Given the description of an element on the screen output the (x, y) to click on. 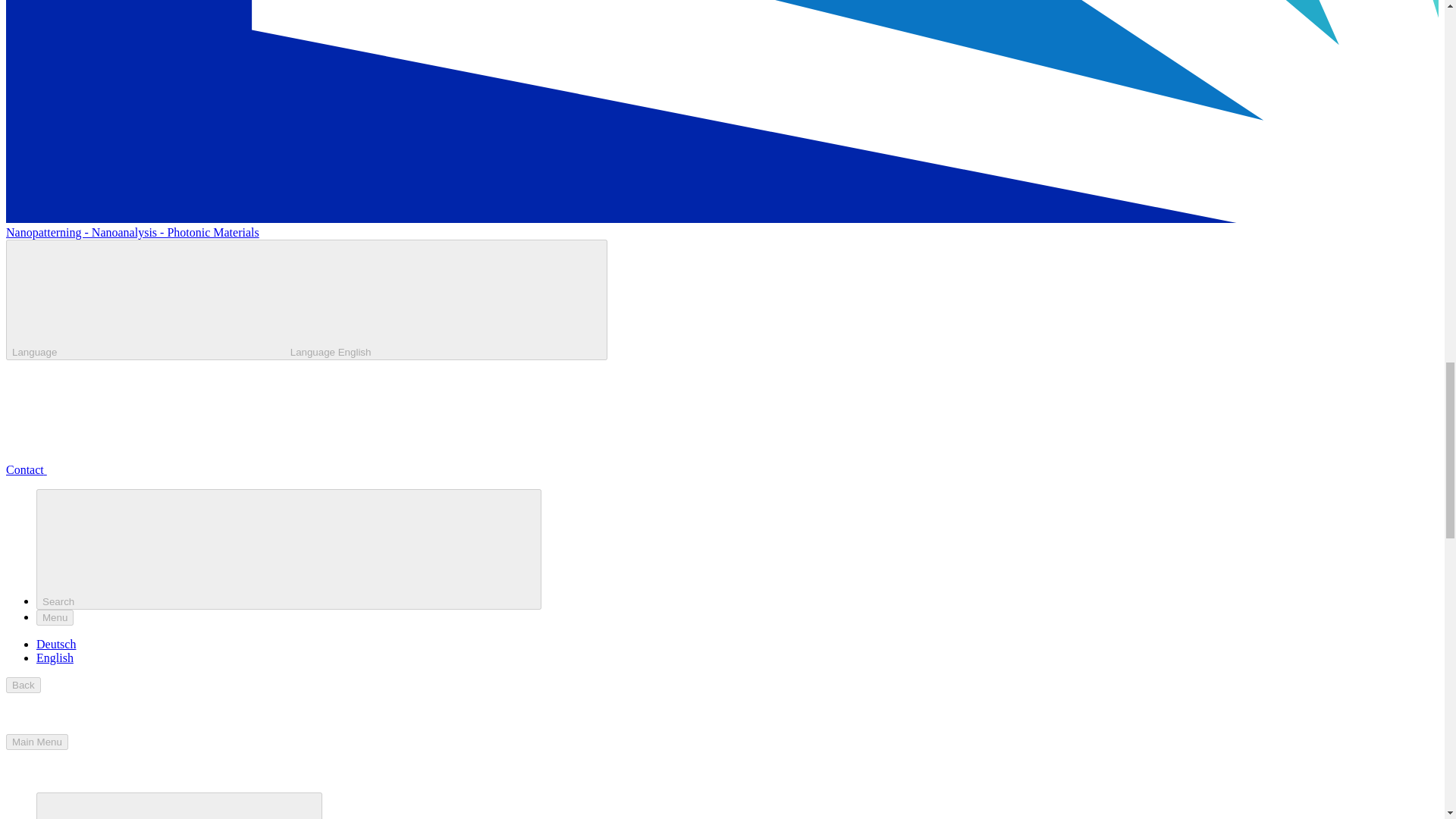
English (55, 657)
Research (178, 805)
Main Menu (36, 741)
Deutsch (55, 644)
Nanopatterning - Nanoanalysis - Photonic Materials (132, 232)
Back (22, 684)
toggle submenu (178, 805)
Contact (140, 469)
Search (288, 548)
Language Language English (306, 299)
